Given the description of an element on the screen output the (x, y) to click on. 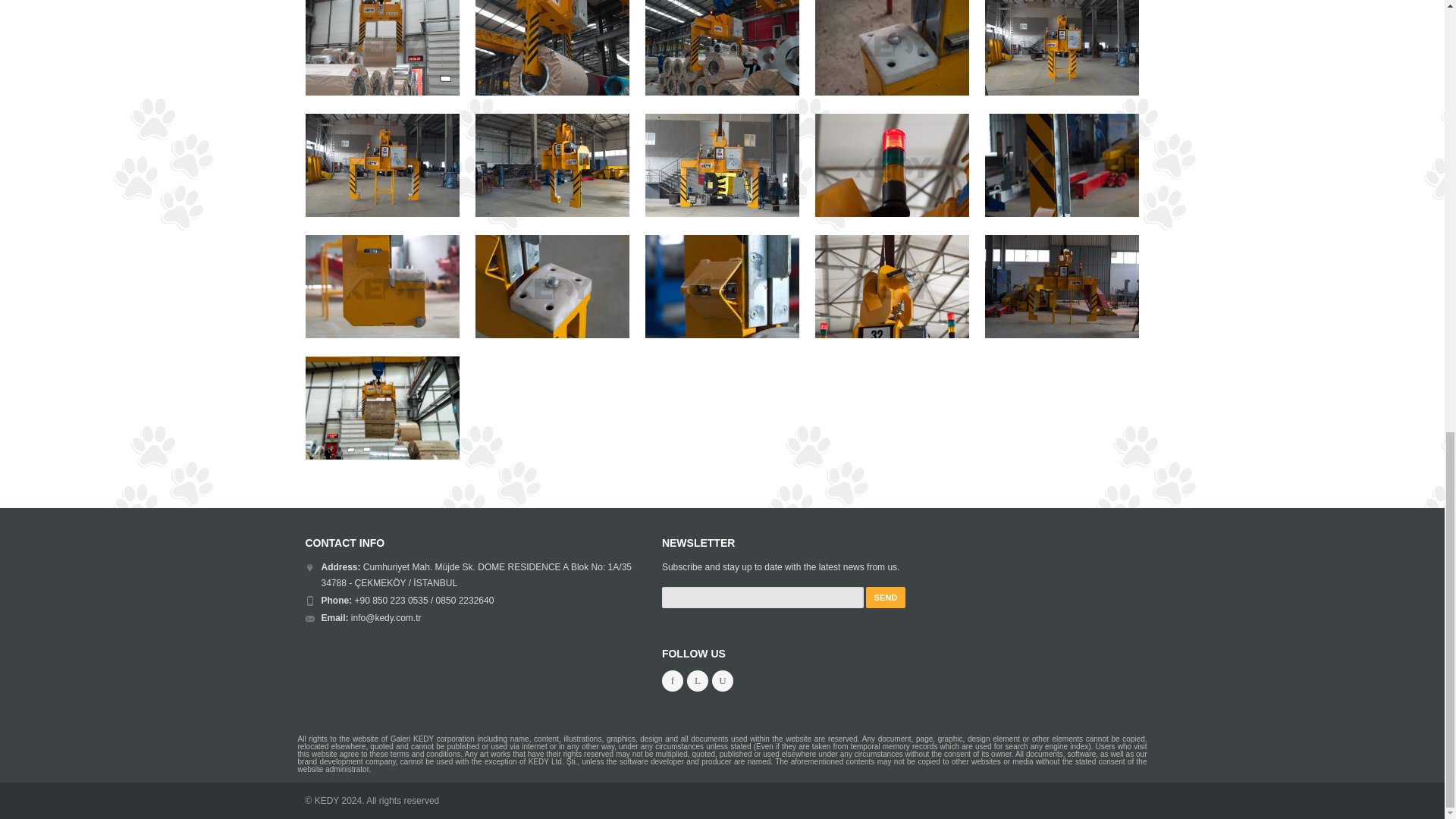
Send (885, 597)
